Given the description of an element on the screen output the (x, y) to click on. 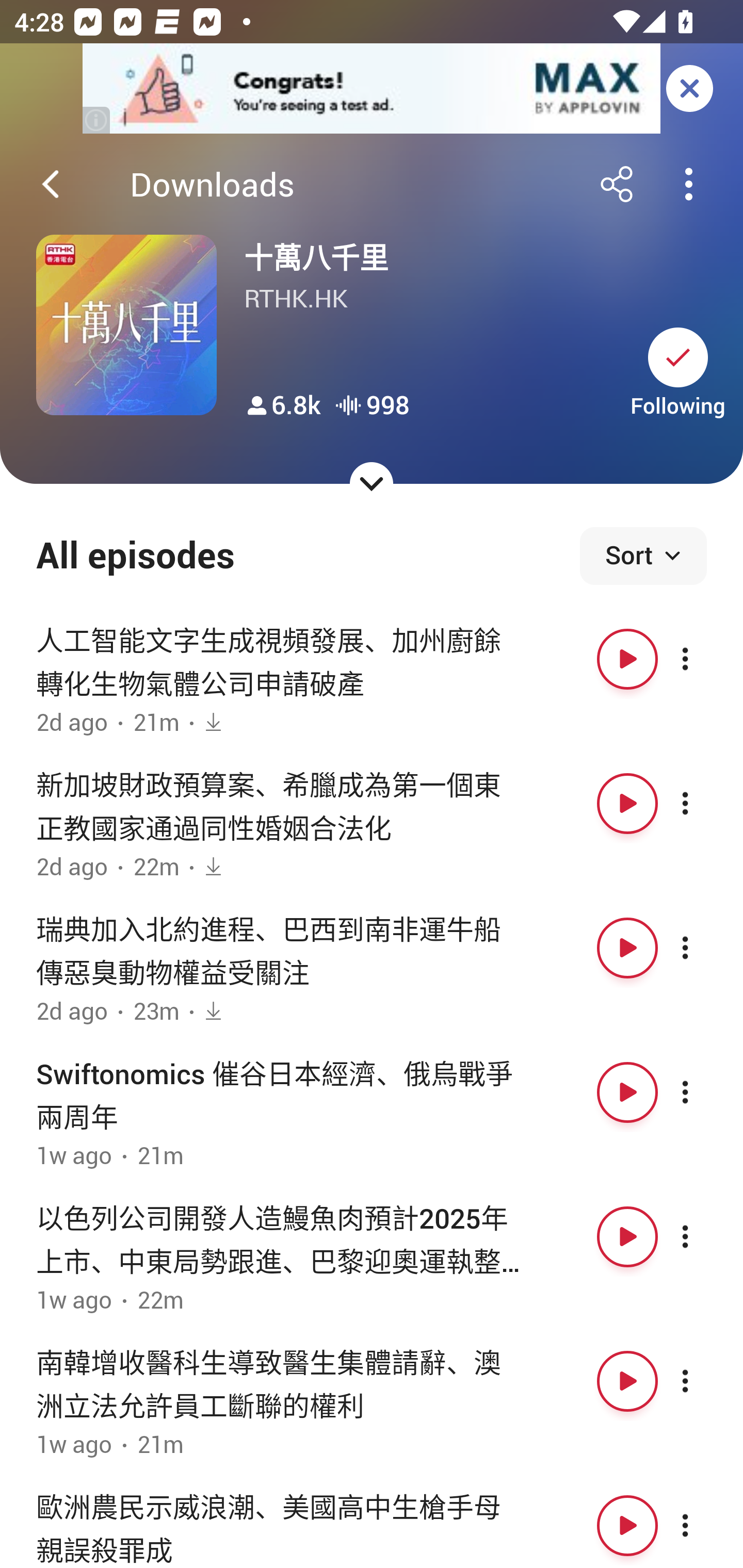
app-monetization (371, 88)
(i) (96, 119)
Back (50, 184)
Unsubscribe button (677, 357)
Sort episodes Sort (643, 555)
Play button (627, 659)
More options (703, 659)
Play button (627, 803)
More options (703, 803)
Play button (627, 947)
More options (703, 947)
Play button (627, 1092)
More options (703, 1092)
Play button (627, 1236)
More options (703, 1236)
Play button (627, 1381)
More options (703, 1381)
Play button (627, 1525)
More options (703, 1525)
